Given the description of an element on the screen output the (x, y) to click on. 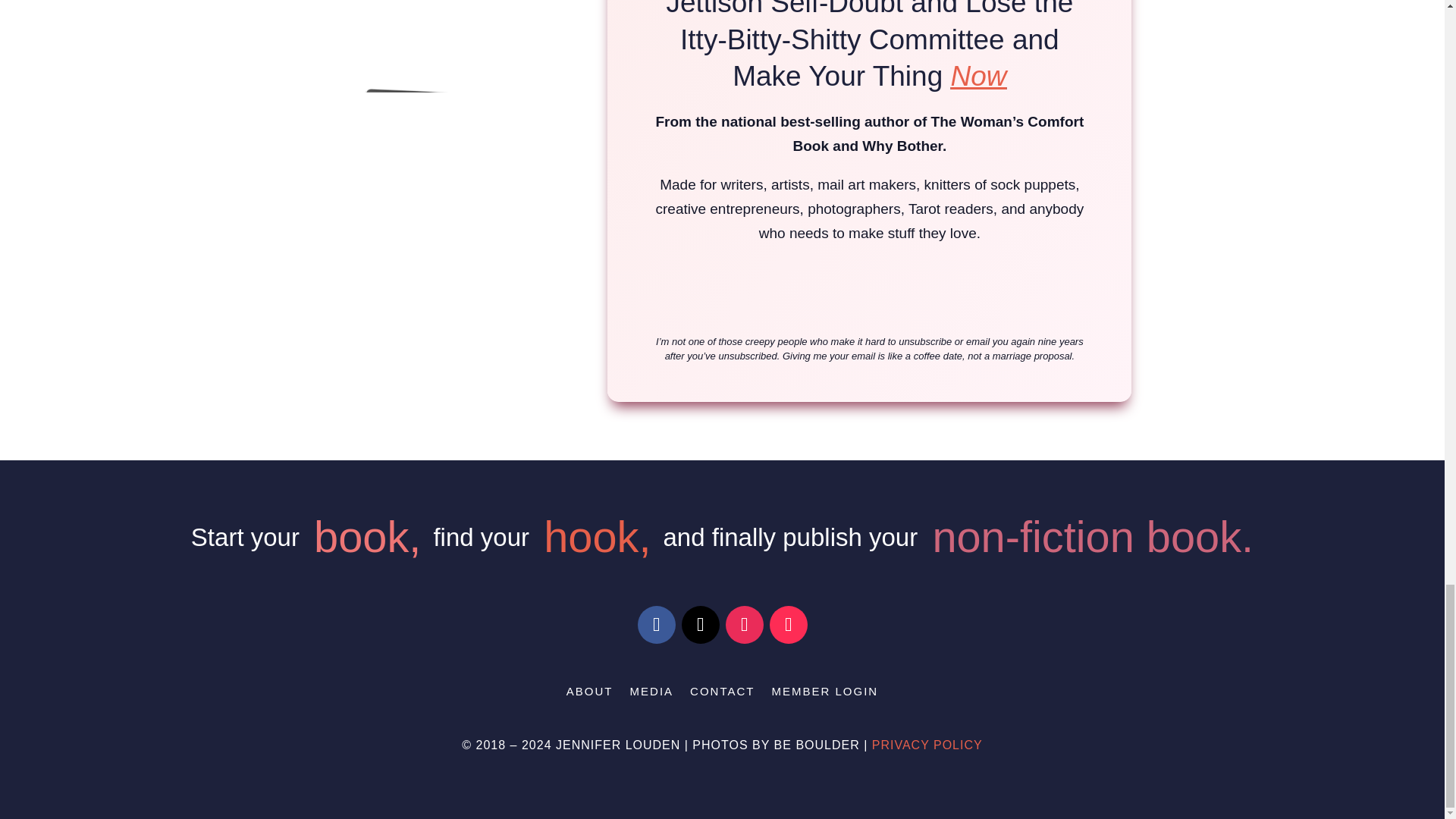
1651736701 (427, 173)
MEMBER LOGIN (824, 694)
Follow on TikTok (787, 624)
Follow on Instagram (743, 624)
CONTACT (722, 694)
MEDIA (652, 694)
PRIVACY POLICY (927, 744)
Follow on Facebook (656, 624)
ABOUT (589, 694)
Follow on X (700, 624)
